Given the description of an element on the screen output the (x, y) to click on. 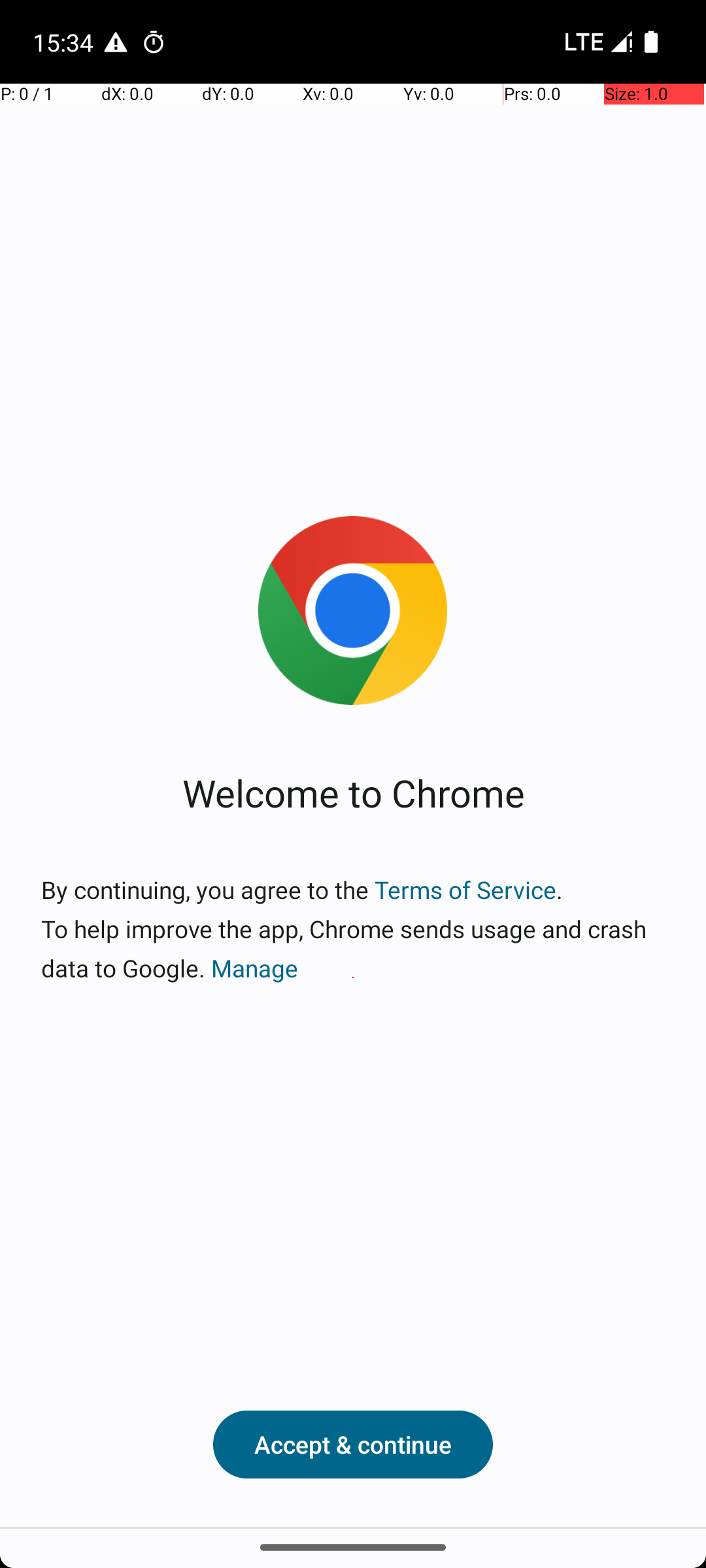
Accept & continue Element type: android.widget.Button (352, 1444)
By continuing, you agree to the Terms of Service.
To help improve the app, Chrome sends usage and crash data to Google. Manage Element type: android.widget.TextView (352, 928)
